Given the description of an element on the screen output the (x, y) to click on. 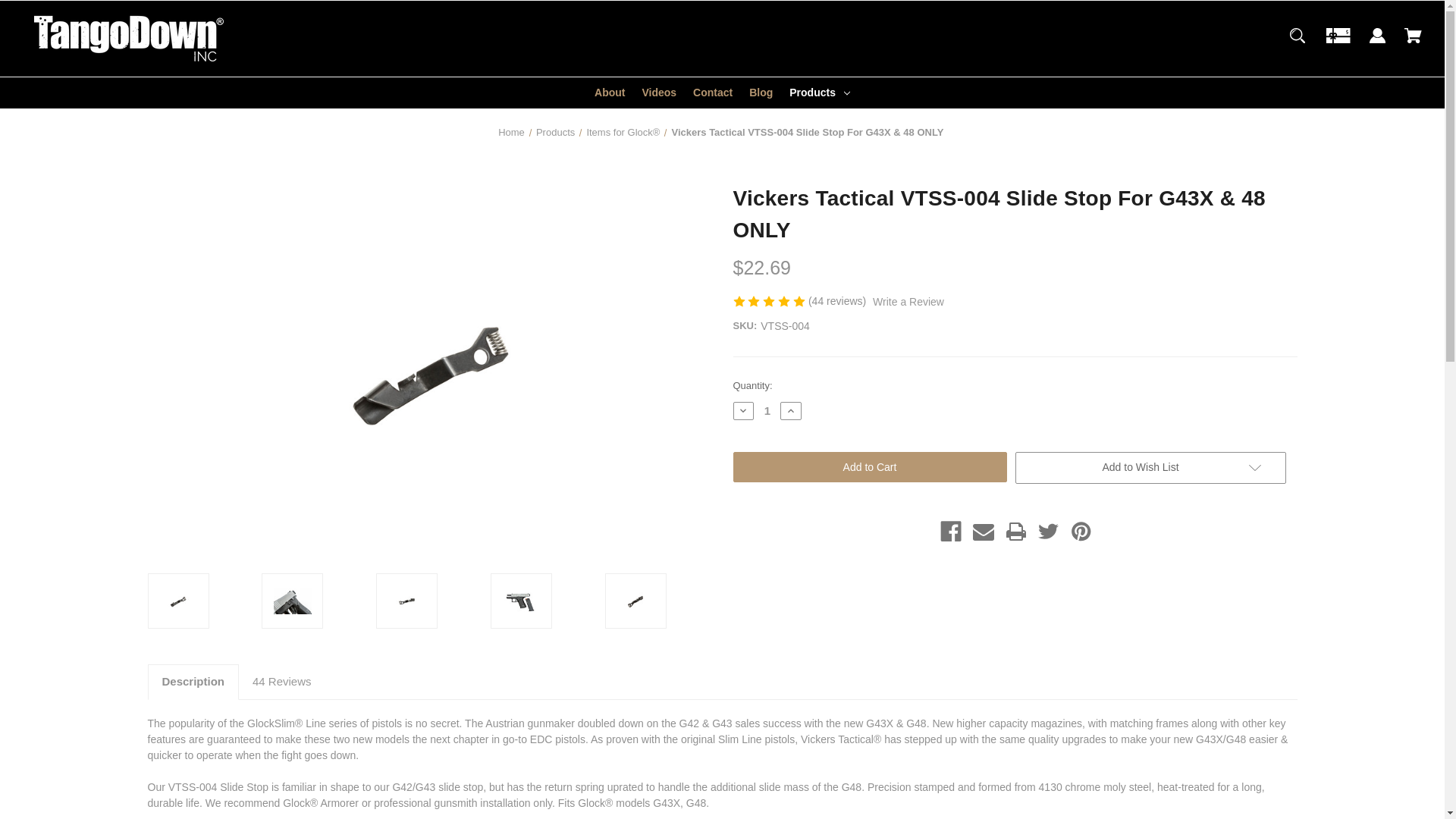
1 (767, 410)
About (609, 92)
MAGNIFYING GLASS IMAGE LARGE RED CIRCLE WITH A BLACK BORDER (1297, 35)
Products (819, 92)
MAGNIFYING GLASS IMAGE LARGE RED CIRCLE WITH A BLACK BORDER (1297, 42)
Blog (760, 92)
Twitter (1048, 531)
Pinterest (1081, 531)
Email (983, 531)
Add to Cart (869, 467)
